Given the description of an element on the screen output the (x, y) to click on. 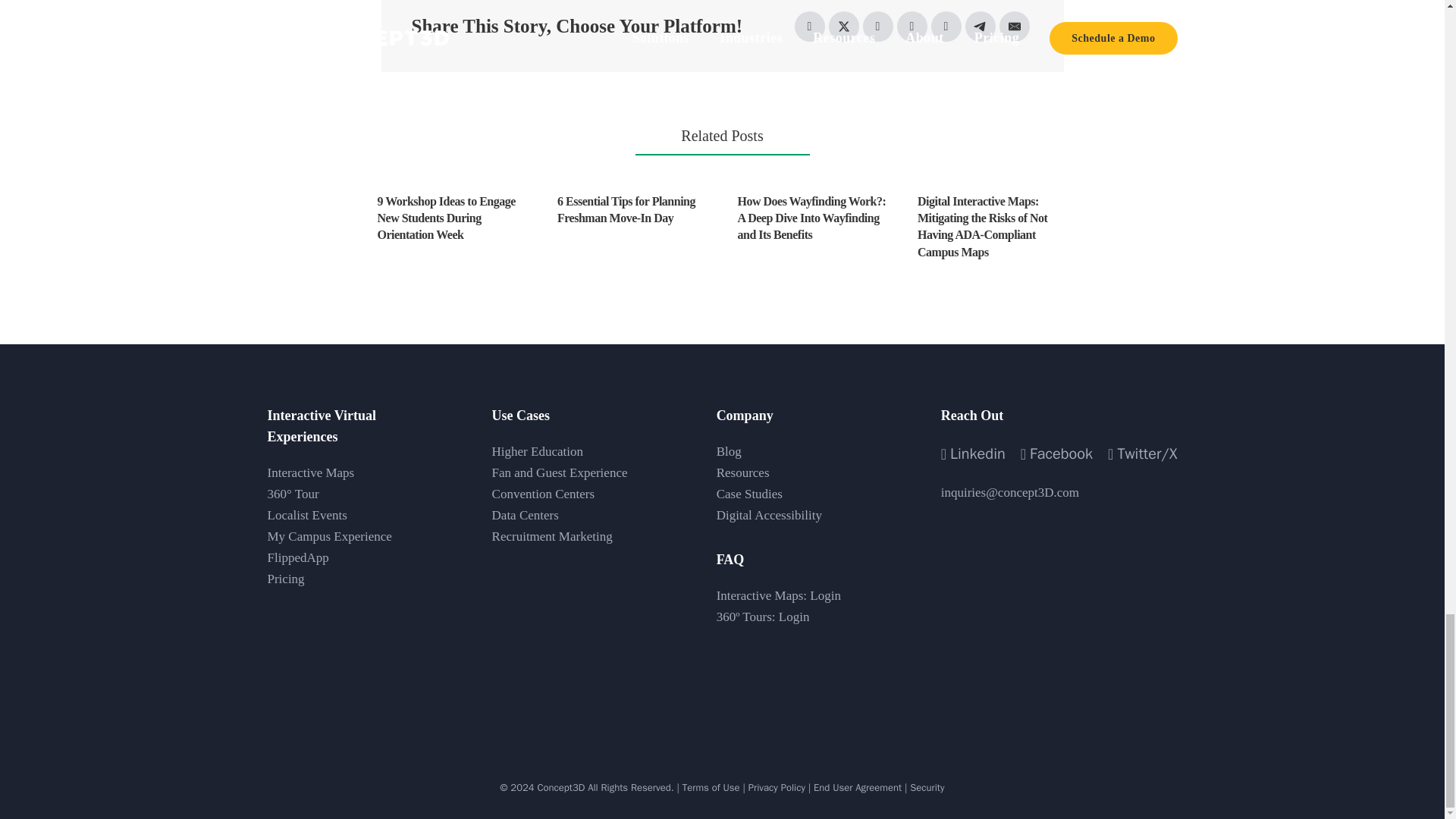
Visit Concept3D on LinkedIn (973, 453)
Visit Concept3D on Twitter (1142, 453)
Visit Concept3D on Facebook (1056, 453)
